Given the description of an element on the screen output the (x, y) to click on. 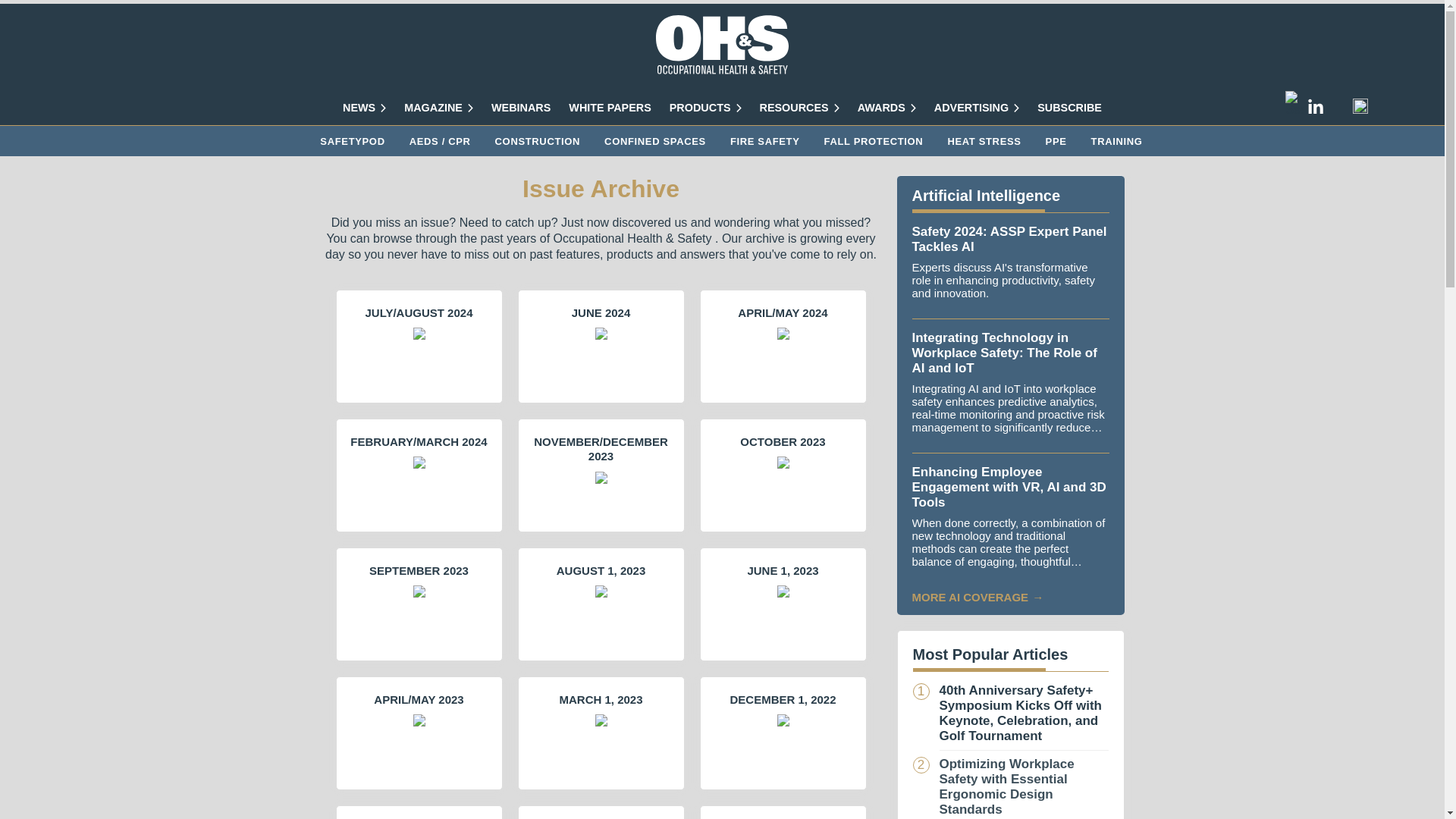
WEBINARS (521, 108)
AWARDS (886, 108)
NEWS (363, 108)
MAGAZINE (438, 108)
WHITE PAPERS (609, 108)
PRODUCTS (705, 108)
RESOURCES (800, 108)
